Given the description of an element on the screen output the (x, y) to click on. 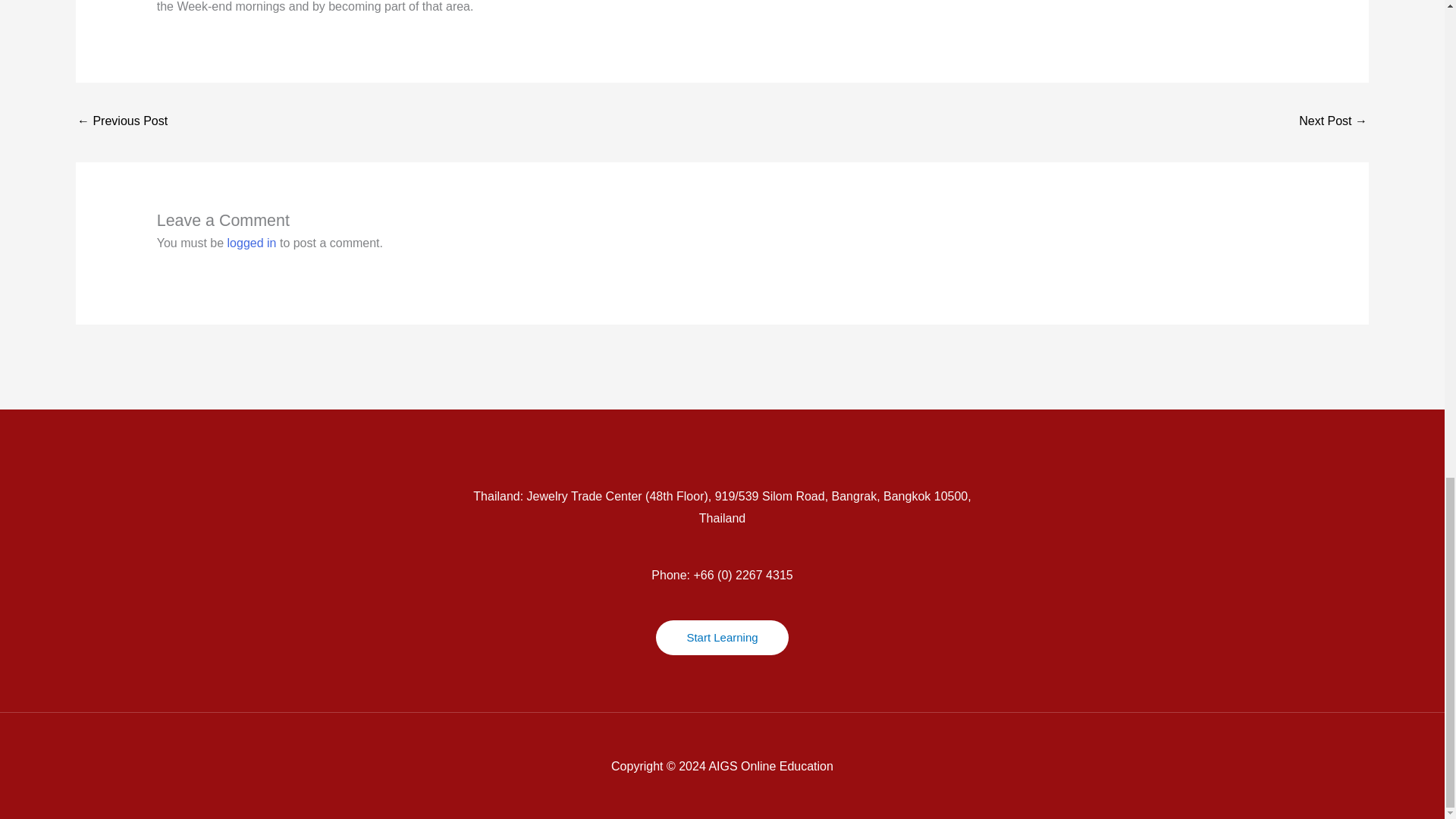
logged in (251, 242)
WTF are good Reddit and you can Is there Porn? (122, 122)
Start Learning (721, 637)
